Given the description of an element on the screen output the (x, y) to click on. 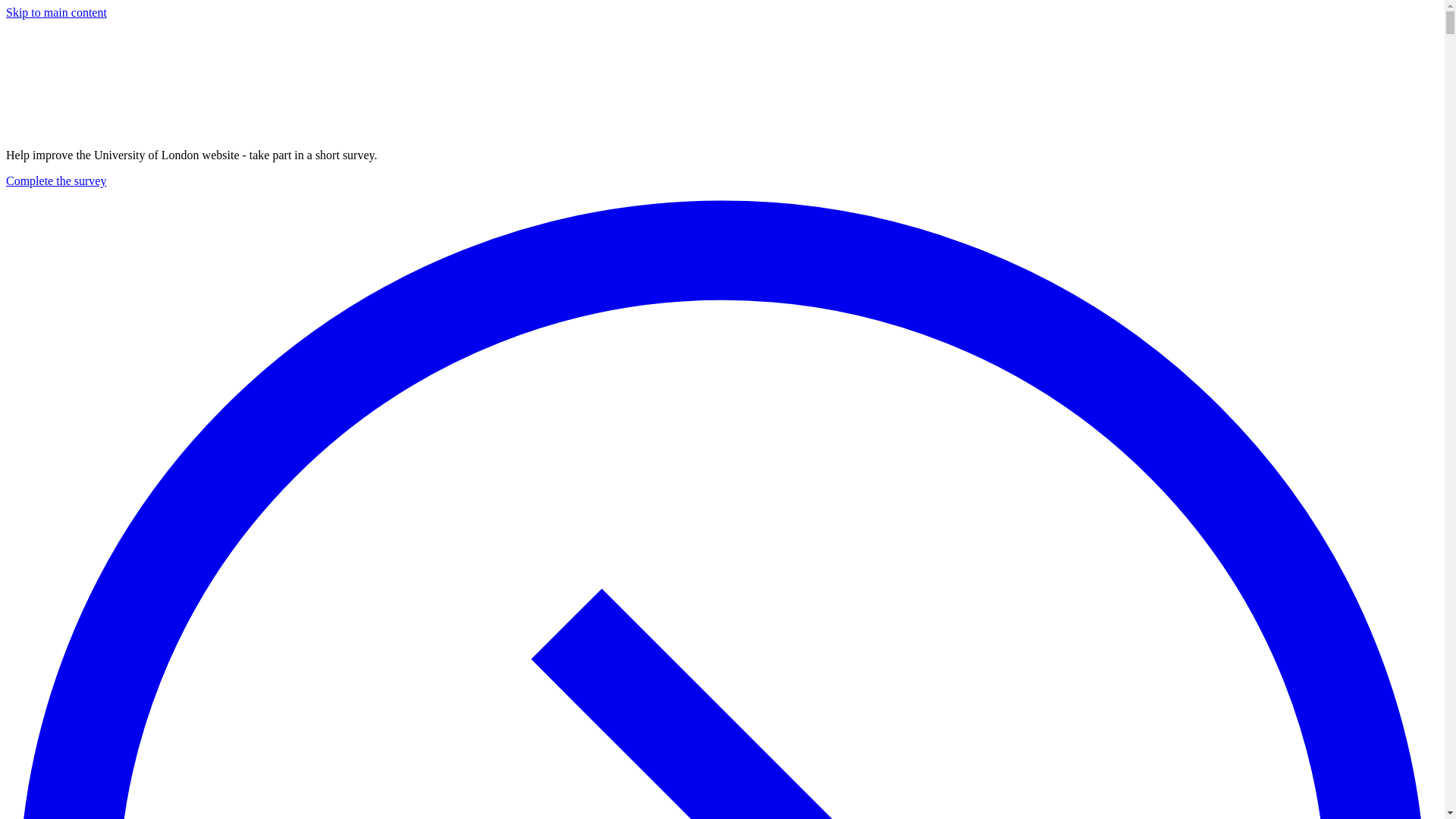
Skip to main content (55, 11)
